Given the description of an element on the screen output the (x, y) to click on. 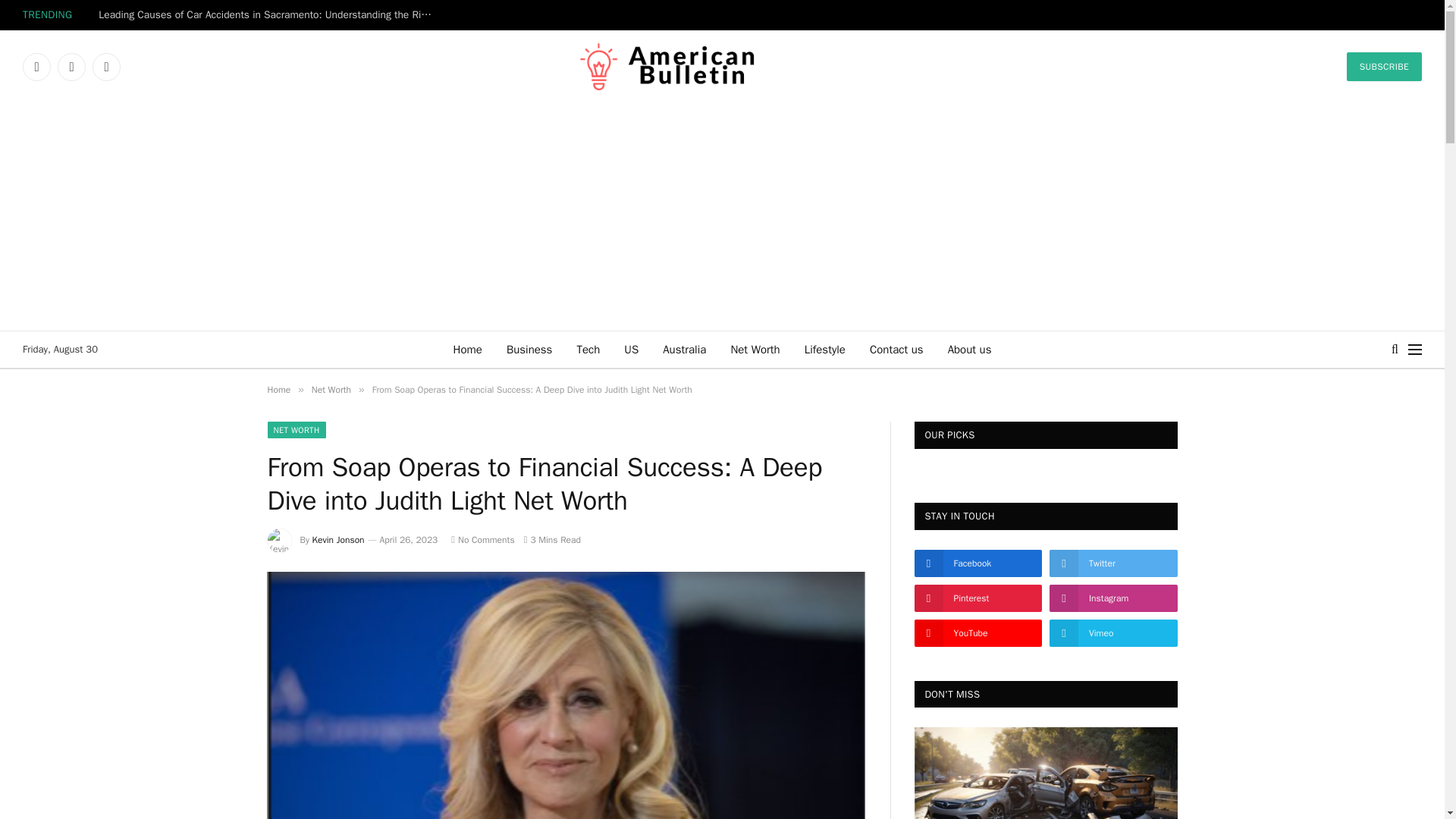
Posts by Kevin Jonson (339, 539)
Home (277, 389)
The American Bulletin (722, 66)
Net Worth (754, 349)
Facebook (36, 67)
NET WORTH (295, 429)
About us (970, 349)
Net Worth (330, 389)
Twitter (71, 67)
Instagram (106, 67)
